Given the description of an element on the screen output the (x, y) to click on. 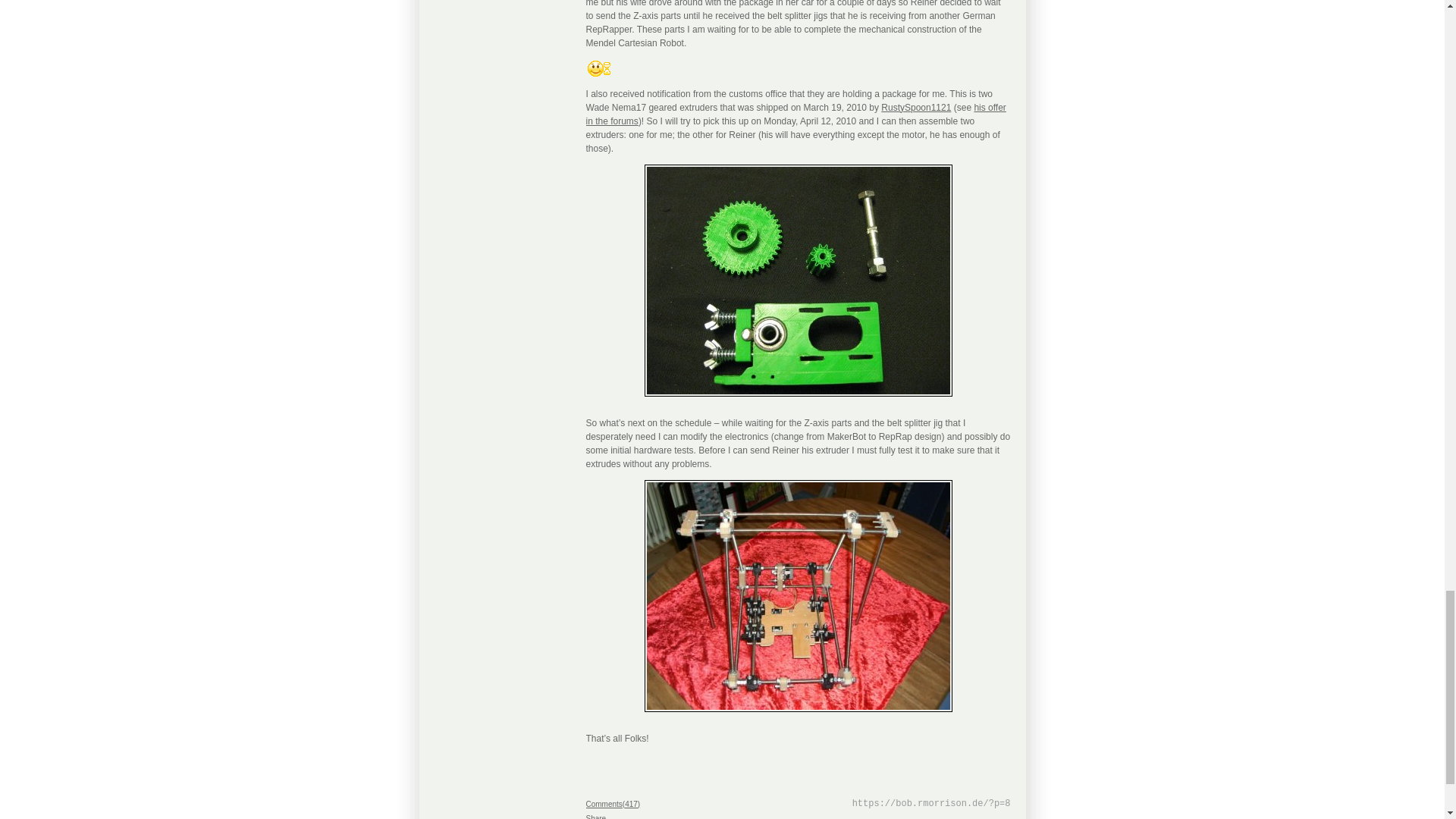
Share (595, 816)
RustySpoon1121 (915, 106)
his offer in the forums (795, 113)
